Given the description of an element on the screen output the (x, y) to click on. 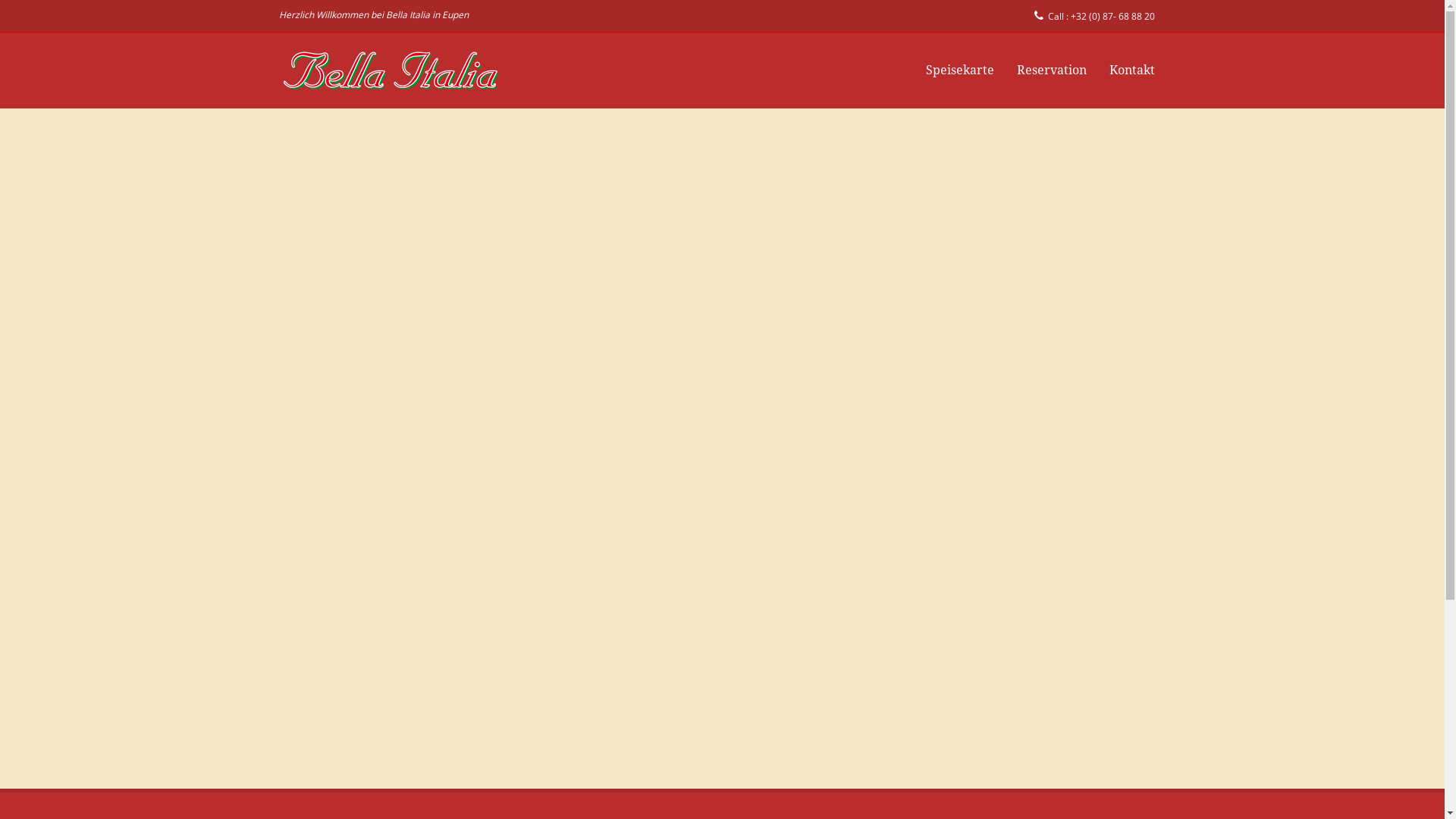
Reservation Element type: text (1051, 69)
Speisekarte Element type: text (959, 69)
Kontakt Element type: text (1132, 69)
bellaitalia-eupen.be Element type: hover (392, 70)
